Given the description of an element on the screen output the (x, y) to click on. 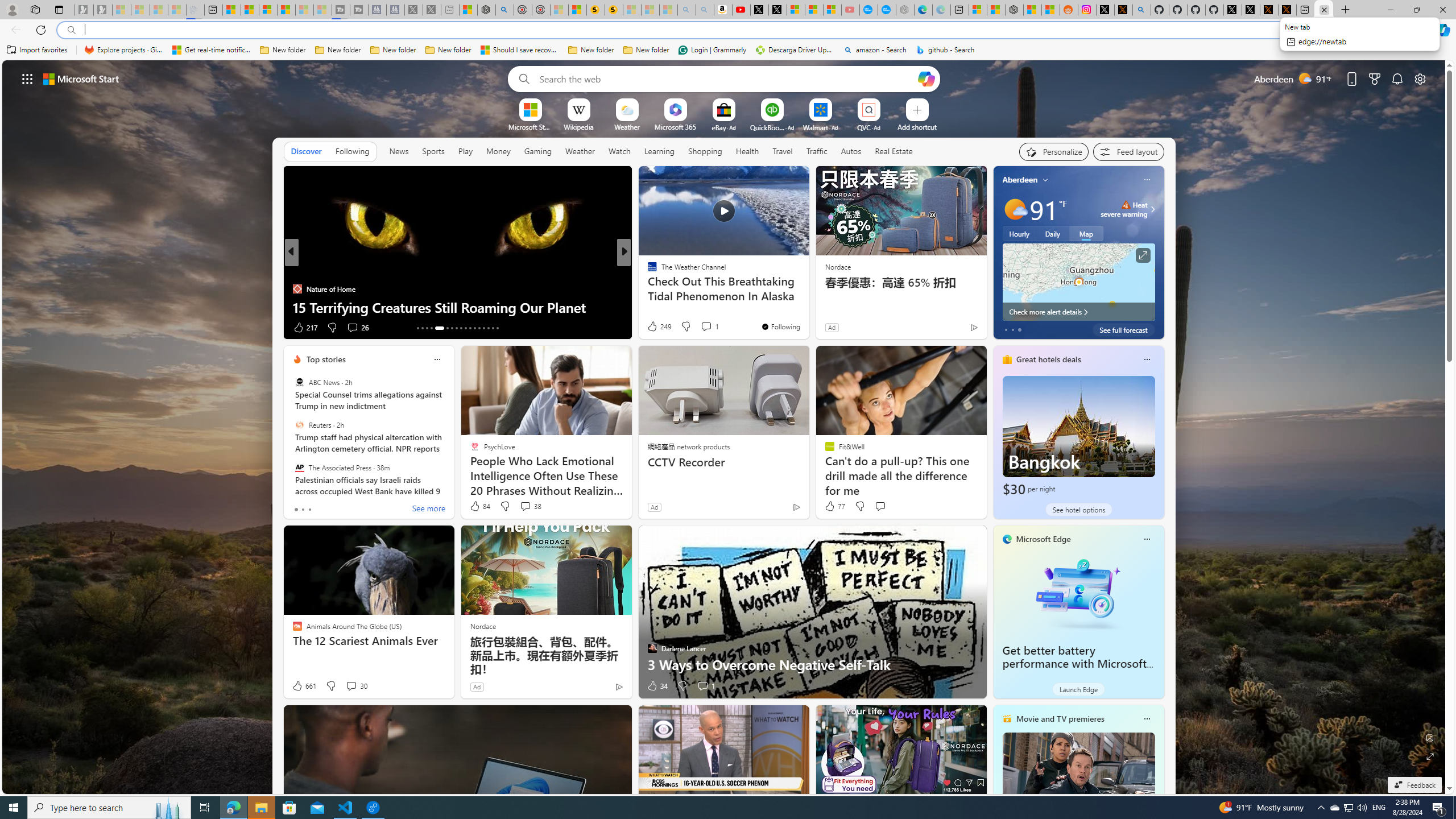
See full forecast (1123, 329)
Nordace - Nordace has arrived Hong Kong - Sleeping (904, 9)
View comments 5 Comment (702, 327)
Movie and TV premieres (1060, 718)
Bangkok (1077, 436)
hotels-header-icon (1006, 358)
AutomationID: tab-28 (492, 328)
How to back up and wipe your Windows PC (807, 307)
